Given the description of an element on the screen output the (x, y) to click on. 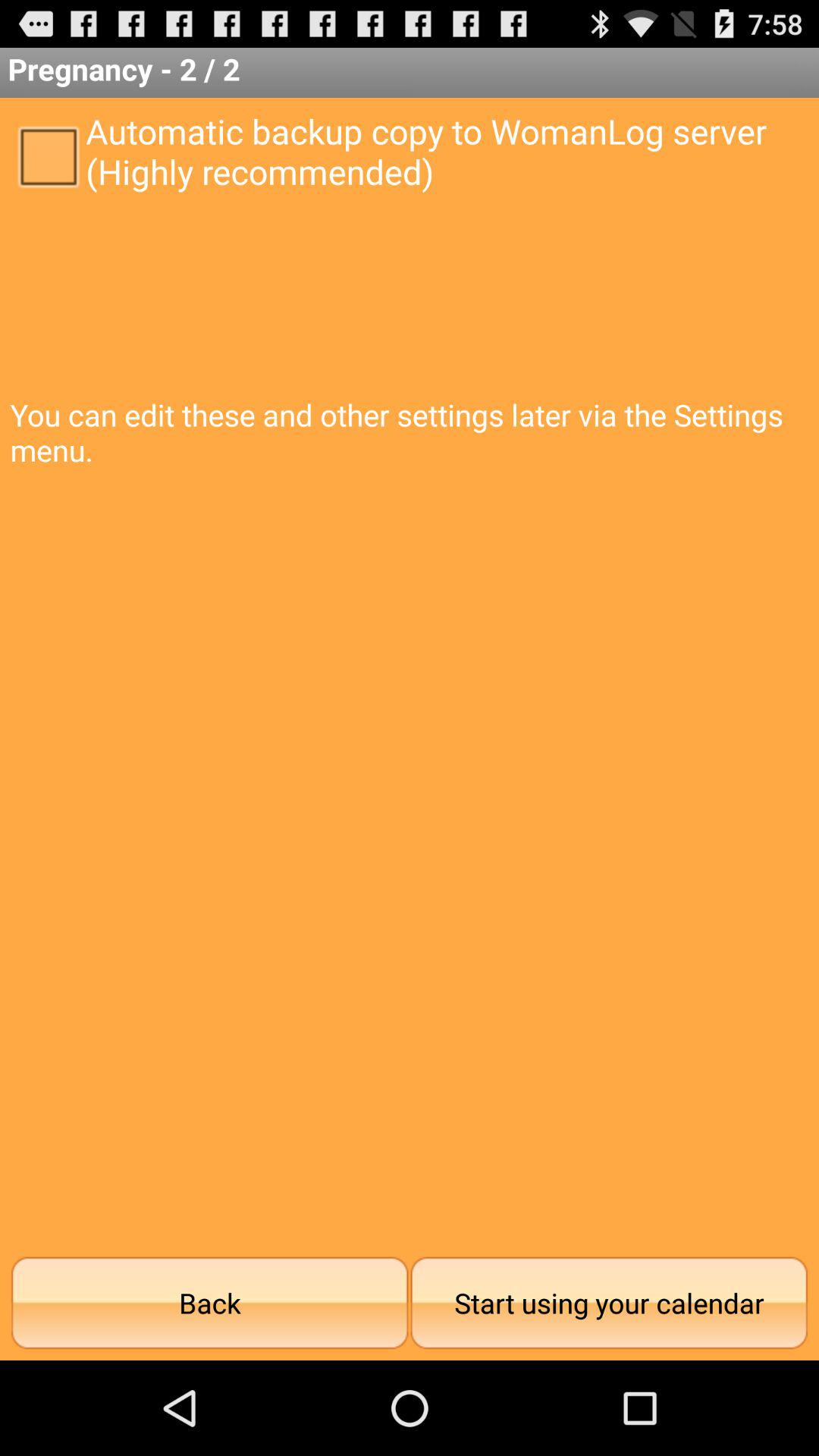
tap back (209, 1302)
